Given the description of an element on the screen output the (x, y) to click on. 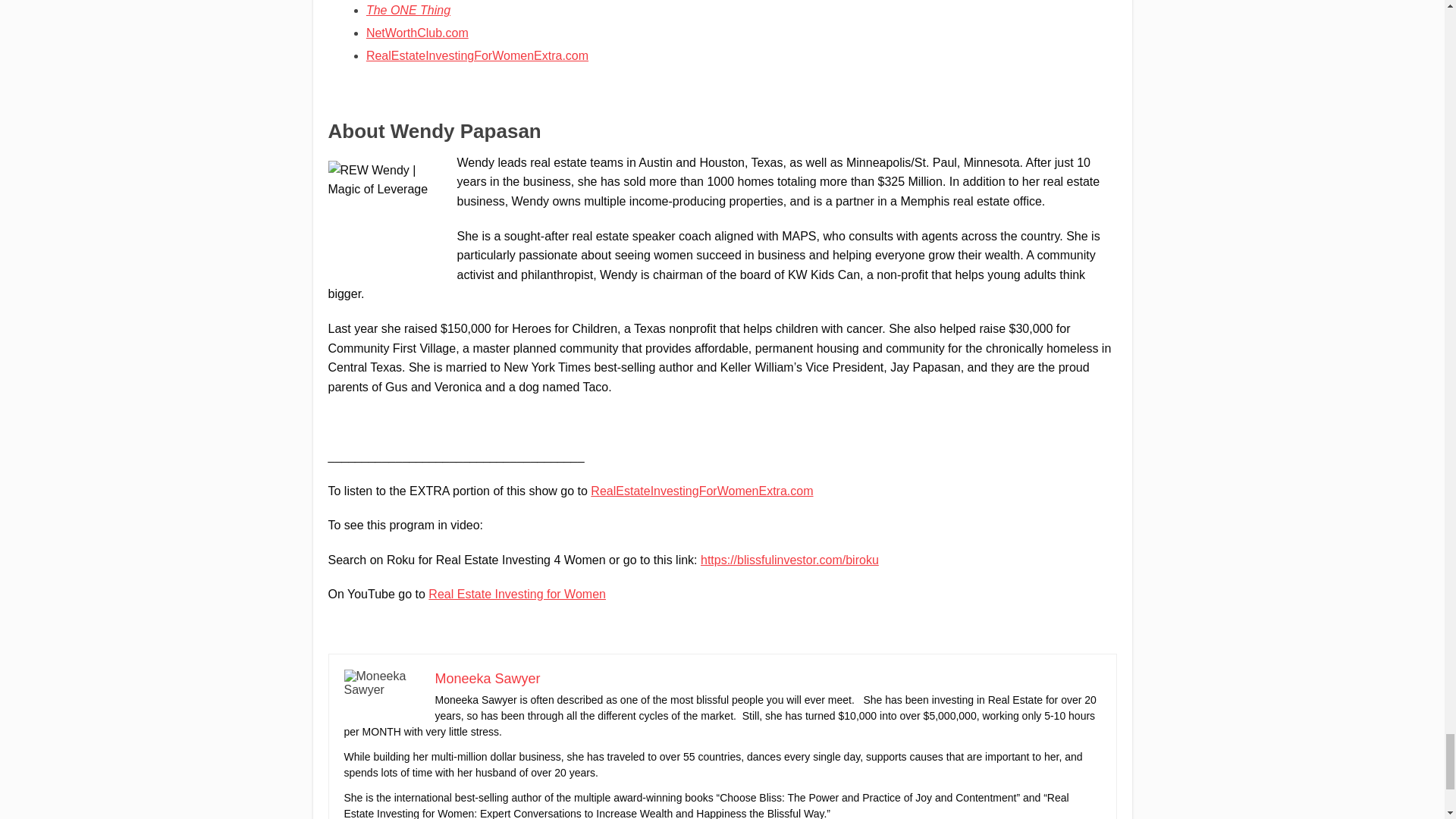
NetWorthClub.com (417, 32)
The ONE Thing (407, 10)
RealEstateInvestingForWomenExtra.com (477, 55)
RealEstateInvestingForWomenExtra.com (701, 490)
Real Estate Investing for Women (516, 594)
Moneeka Sawyer (487, 678)
